Given the description of an element on the screen output the (x, y) to click on. 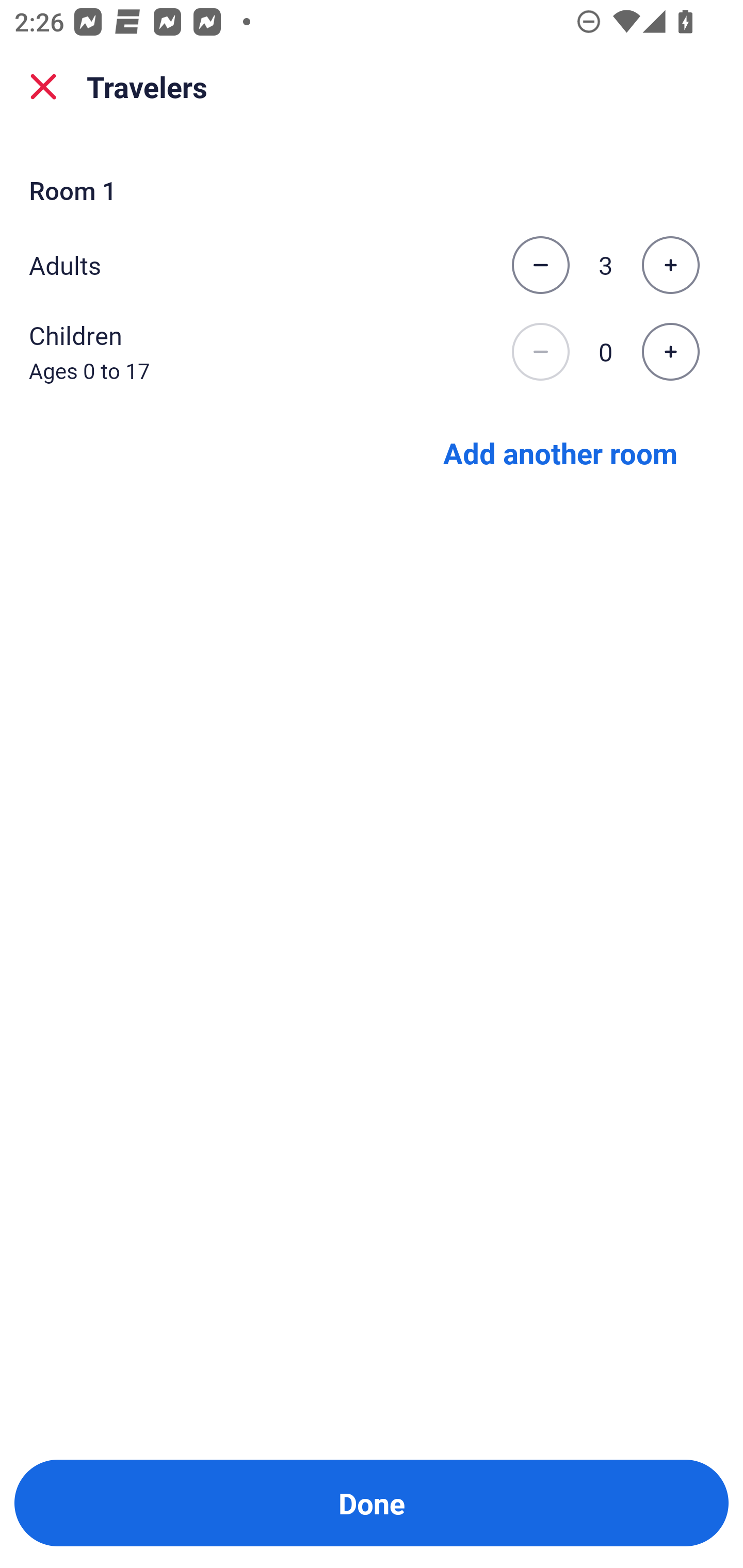
close (43, 86)
Decrease the number of adults (540, 264)
Increase the number of adults (670, 264)
Decrease the number of children (540, 351)
Increase the number of children (670, 351)
Add another room (560, 452)
Done (371, 1502)
